Given the description of an element on the screen output the (x, y) to click on. 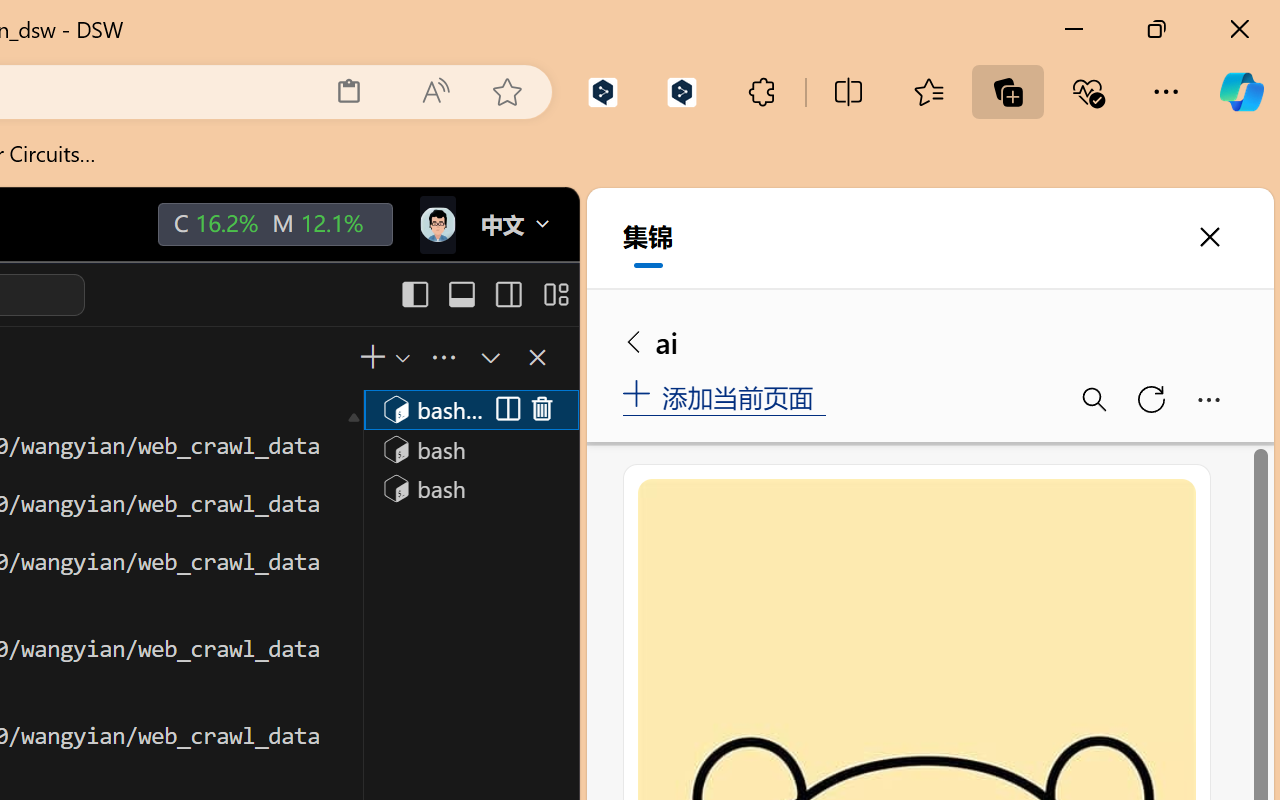
Views and More Actions... (442, 357)
Split (Ctrl+Shift+5) (504, 409)
Copilot (Ctrl+Shift+.) (1241, 91)
icon (436, 224)
icon (436, 220)
Terminal 2 bash (470, 448)
Terminal 3 bash (470, 488)
Kill (Delete) (541, 409)
Terminal 1 bash (470, 409)
